Given the description of an element on the screen output the (x, y) to click on. 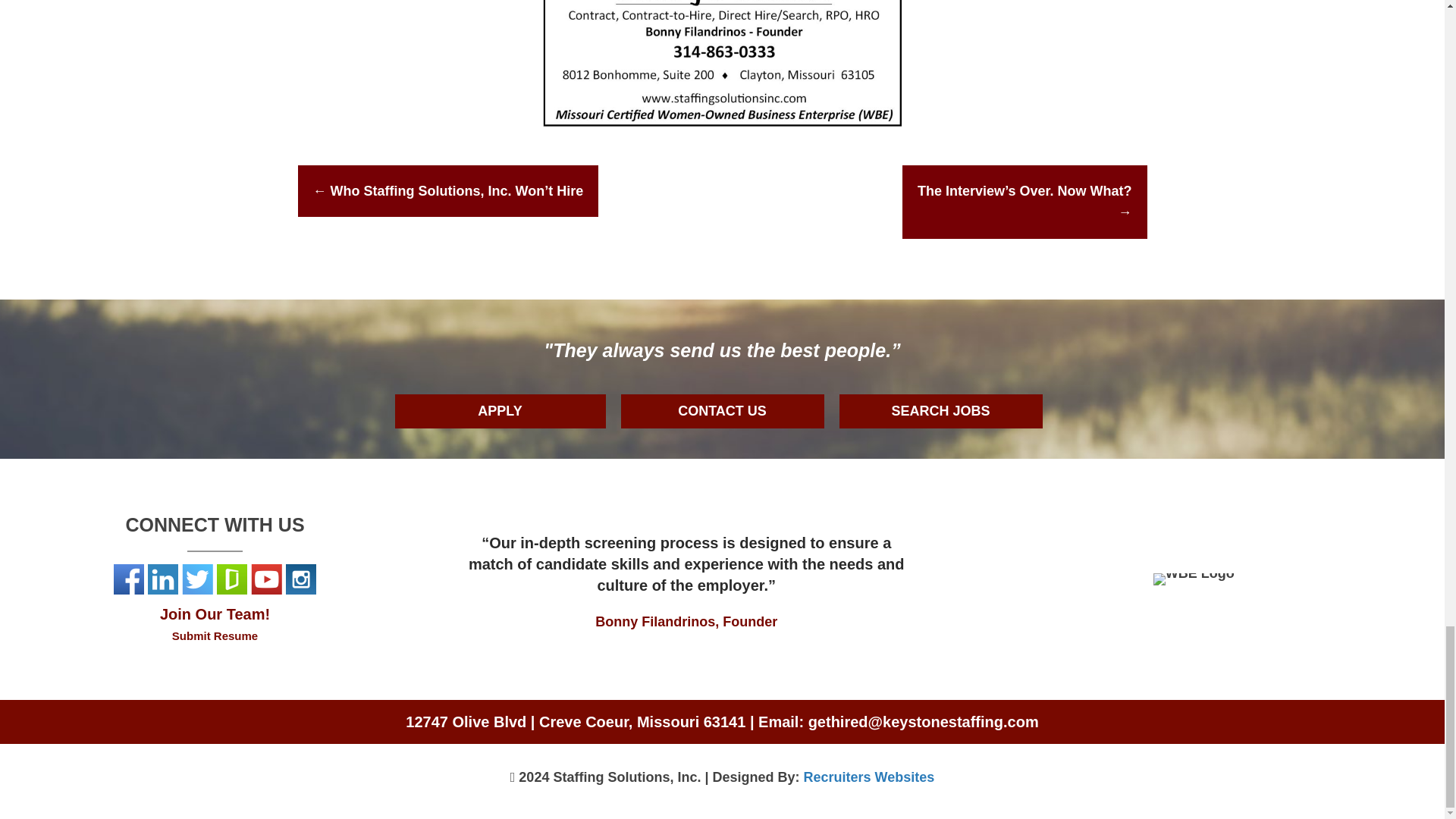
wbelogo (1193, 579)
